Given the description of an element on the screen output the (x, y) to click on. 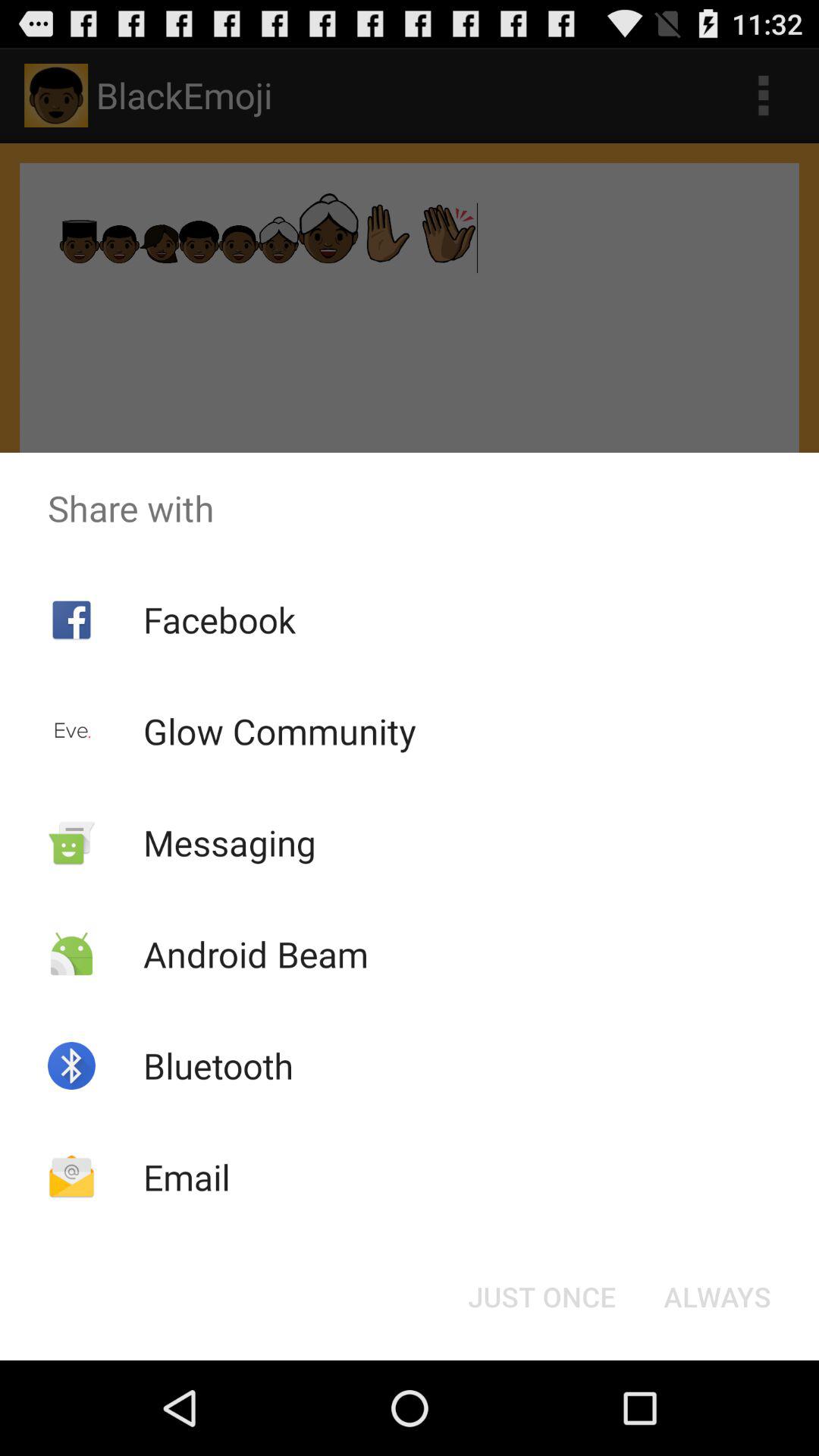
turn on item below share with item (717, 1296)
